Given the description of an element on the screen output the (x, y) to click on. 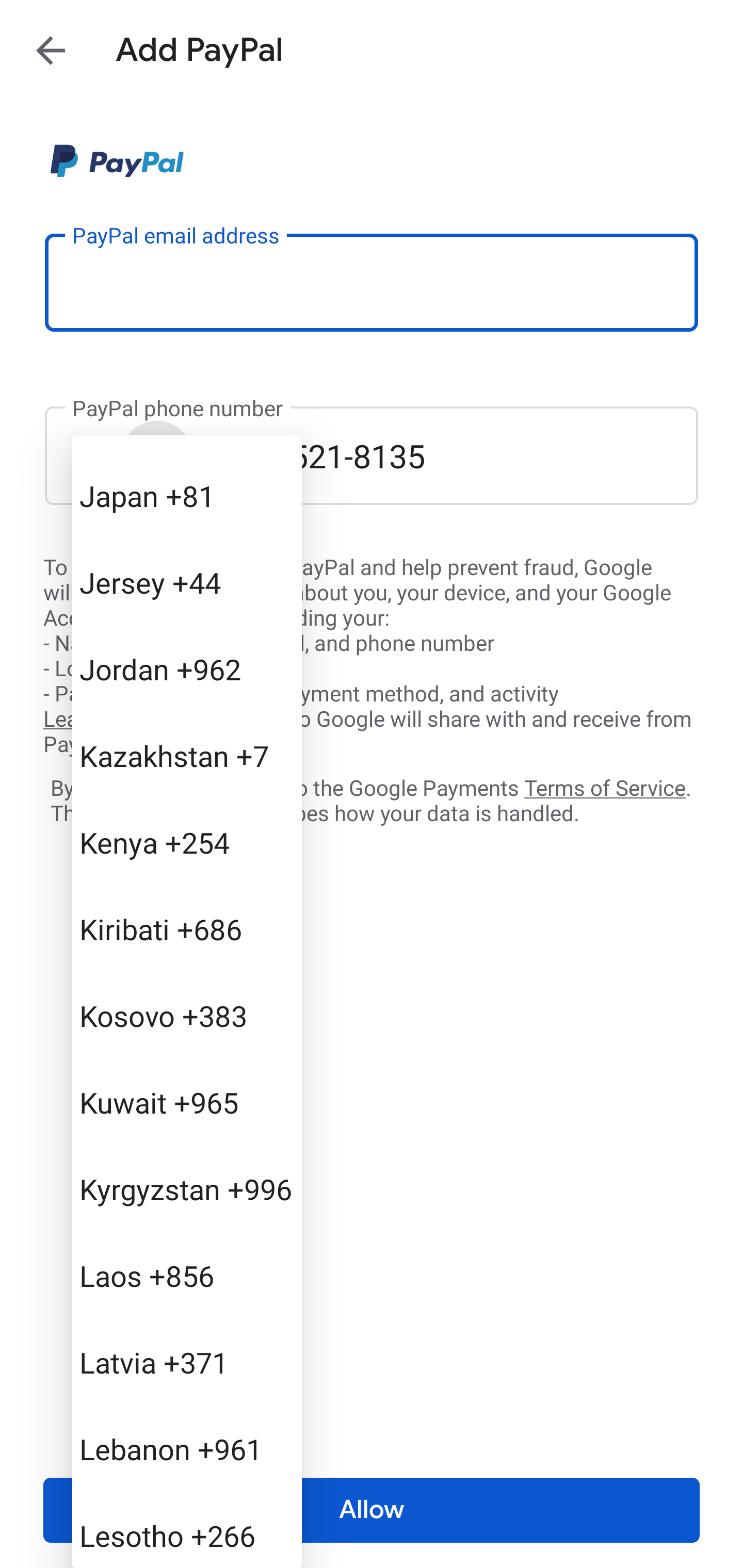
Japan +81 (186, 495)
Jersey +44 (186, 582)
Jordan +962 (186, 668)
Kazakhstan +7 (186, 755)
Kenya +254 (186, 842)
Kiribati +686 (186, 928)
Kosovo +383 (186, 1015)
Kuwait +965 (186, 1102)
Kyrgyzstan +996 (186, 1189)
Laos +856 (186, 1275)
Latvia +371 (186, 1361)
Lebanon +961 (186, 1448)
Lesotho +266 (186, 1530)
